Given the description of an element on the screen output the (x, y) to click on. 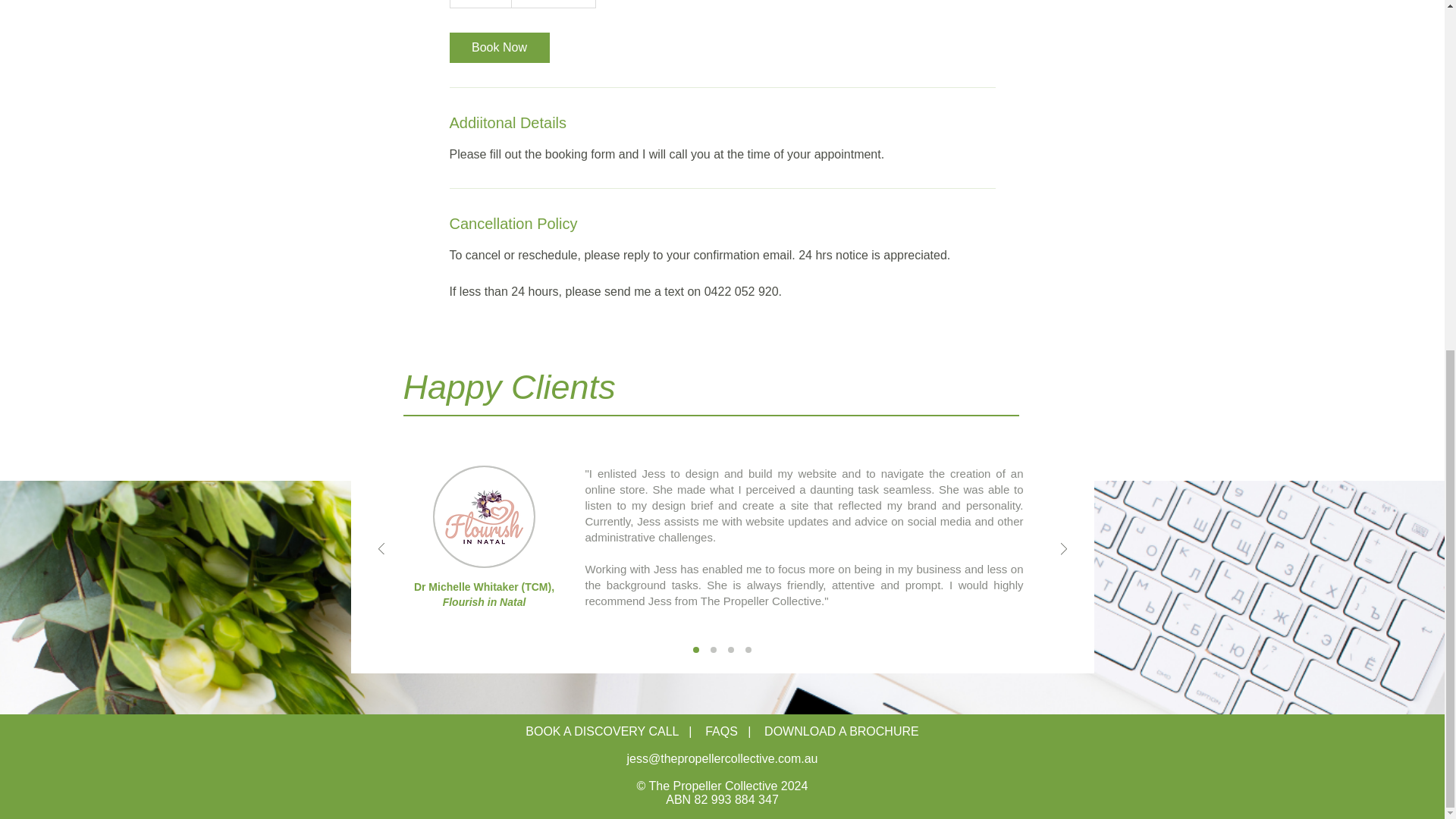
Flourish in Natal (483, 602)
FAQS (721, 730)
Book Now (498, 47)
DOWNLOAD A BROCHURE (841, 730)
BOOK A DISCOVERY CALL (601, 730)
